Given the description of an element on the screen output the (x, y) to click on. 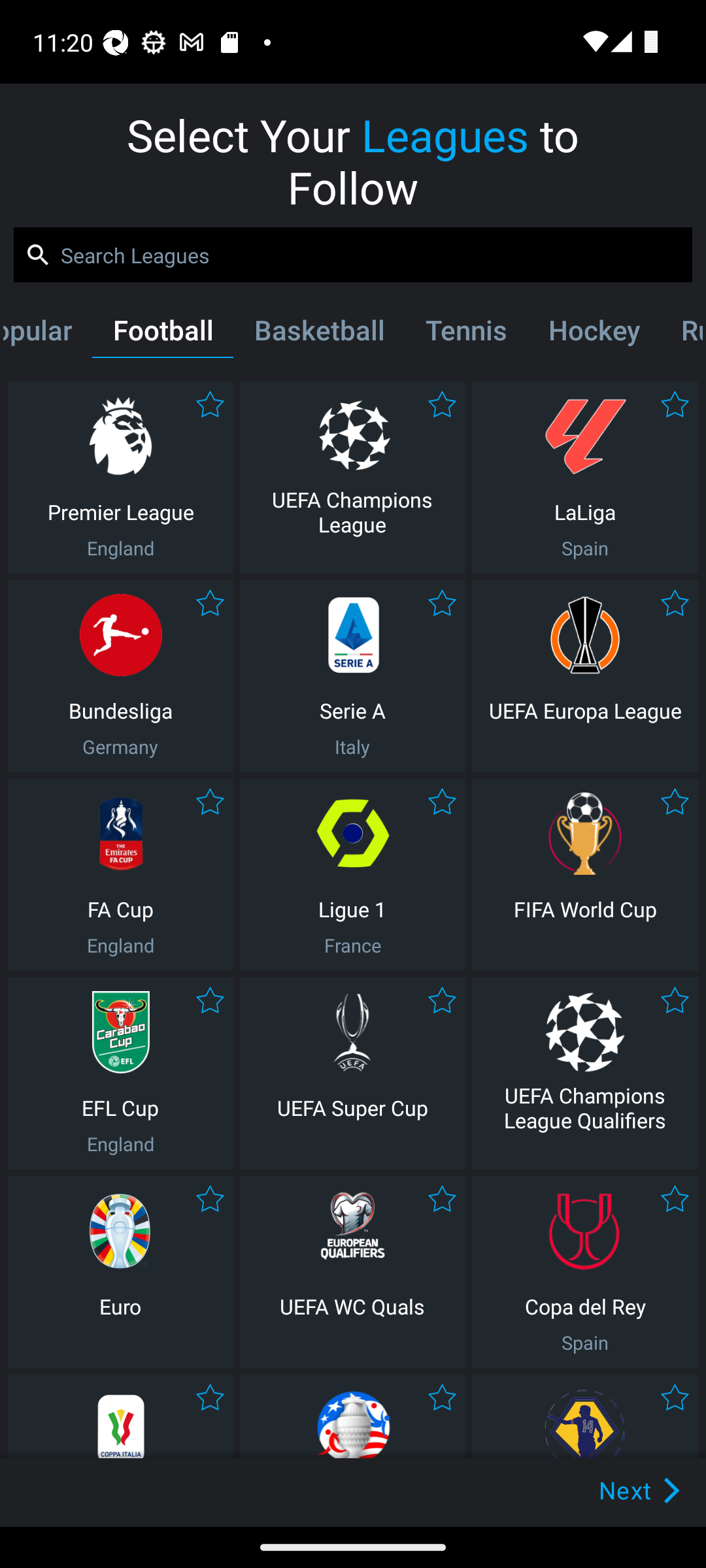
Search Leagues (352, 254)
Popular (47, 333)
Football (162, 333)
Basketball (318, 333)
Tennis (465, 333)
Hockey (593, 333)
Premier League England (120, 477)
UEFA Champions League (352, 477)
LaLiga Spain (585, 477)
Bundesliga Germany (120, 675)
Serie A Italy (352, 675)
UEFA Europa League (585, 675)
FA Cup England (120, 874)
Ligue 1 France (352, 874)
FIFA World Cup (585, 874)
EFL Cup England (120, 1072)
UEFA Super Cup (352, 1072)
UEFA Champions League Qualifiers (585, 1072)
Euro (120, 1271)
UEFA WC Quals (352, 1271)
Copa del Rey Spain (585, 1271)
Next (609, 1489)
